Given the description of an element on the screen output the (x, y) to click on. 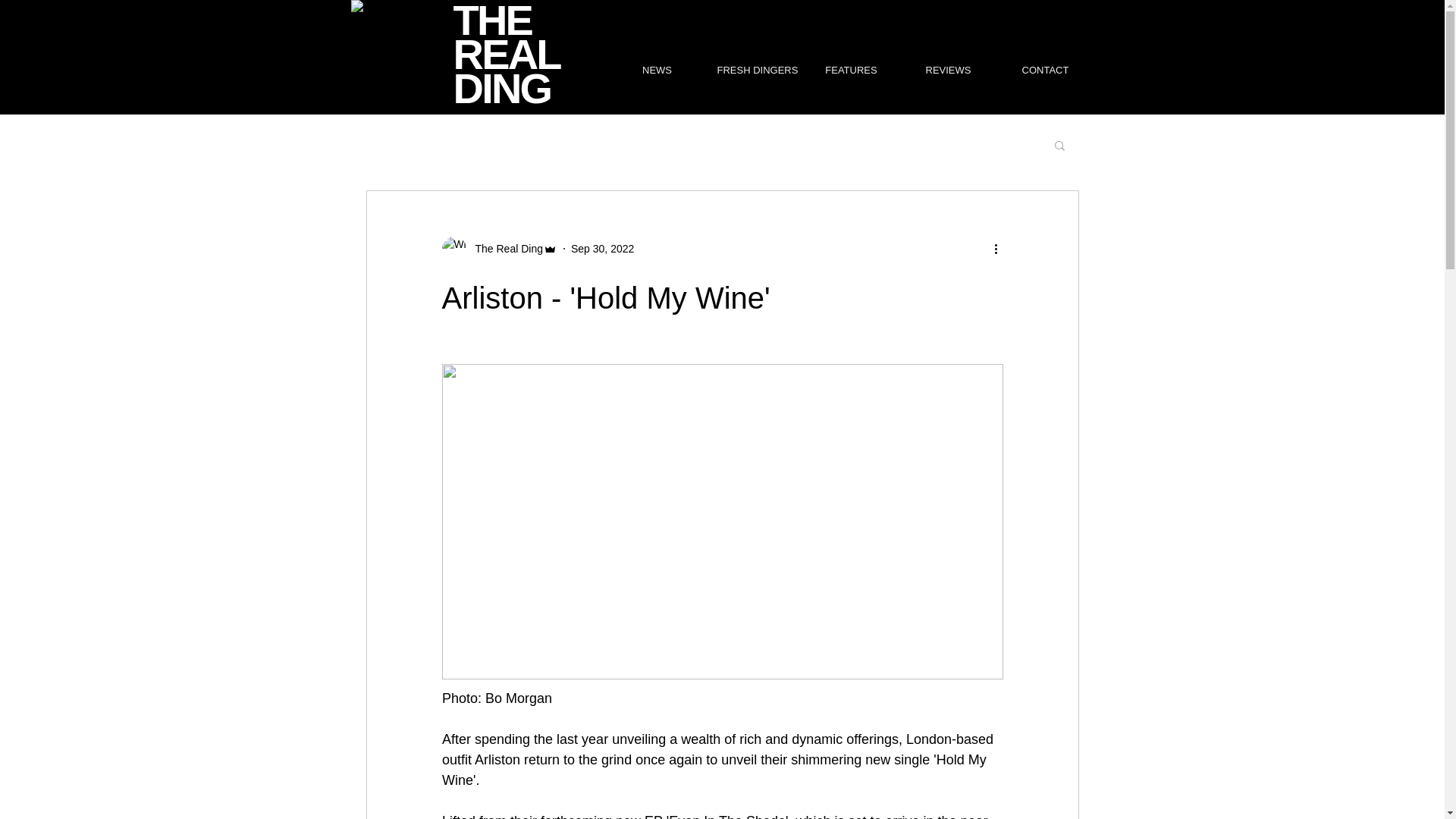
FRESH DINGERS (753, 69)
The Real Ding (504, 248)
NEWS (656, 69)
Sep 30, 2022 (601, 248)
FEATURES (850, 69)
CONTACT (1044, 69)
REVIEWS (947, 69)
